Given the description of an element on the screen output the (x, y) to click on. 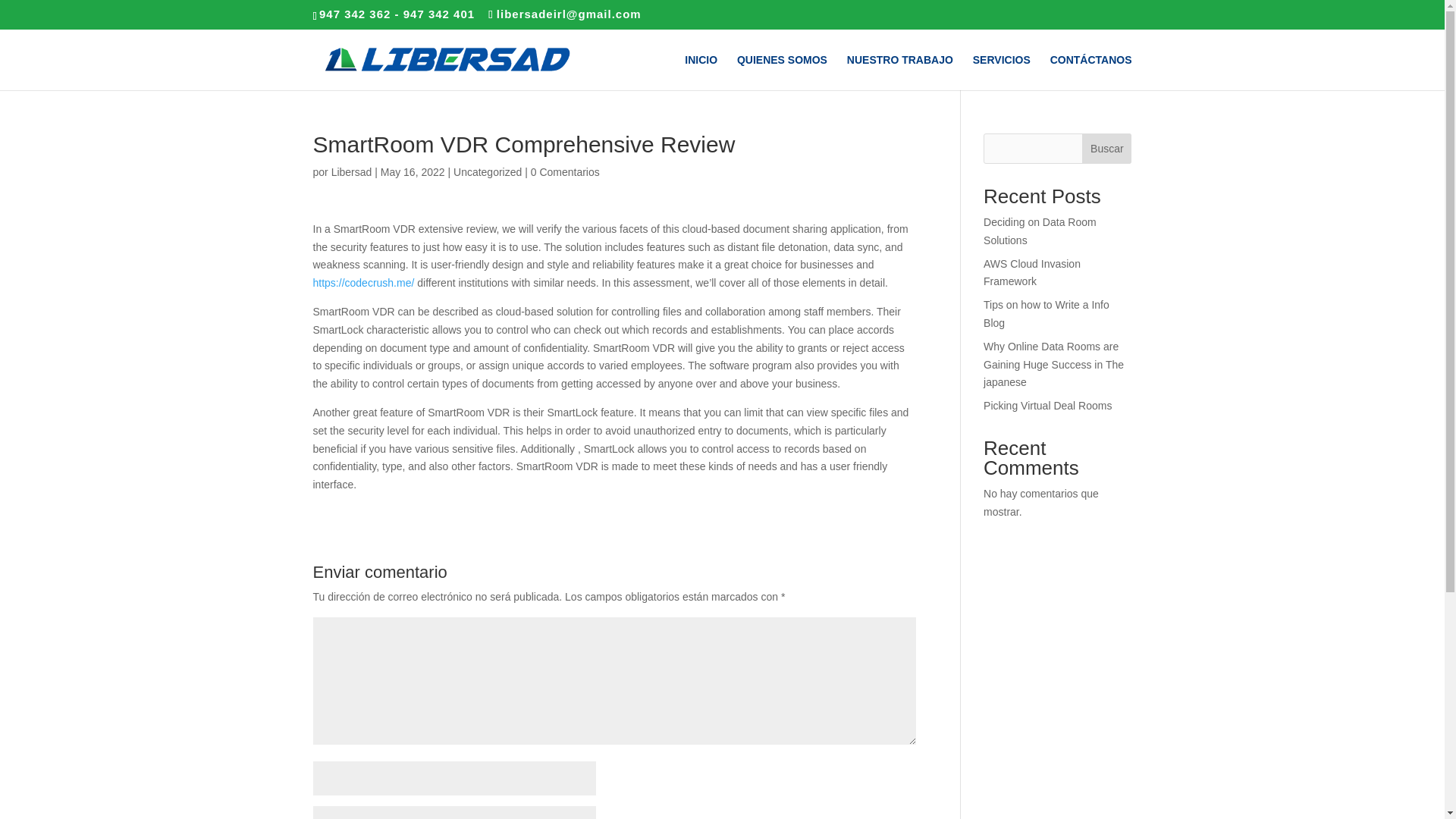
INICIO (700, 72)
0 Comentarios (565, 172)
Libersad (351, 172)
Picking Virtual Deal Rooms (1048, 405)
Mensajes de Libersad (351, 172)
Deciding on Data Room Solutions (1040, 231)
Buscar (1106, 148)
QUIENES SOMOS (781, 72)
SERVICIOS (1001, 72)
Uncategorized (486, 172)
AWS Cloud Invasion Framework (1032, 272)
NUESTRO TRABAJO (900, 72)
Tips on how to Write a Info Blog (1046, 313)
